Given the description of an element on the screen output the (x, y) to click on. 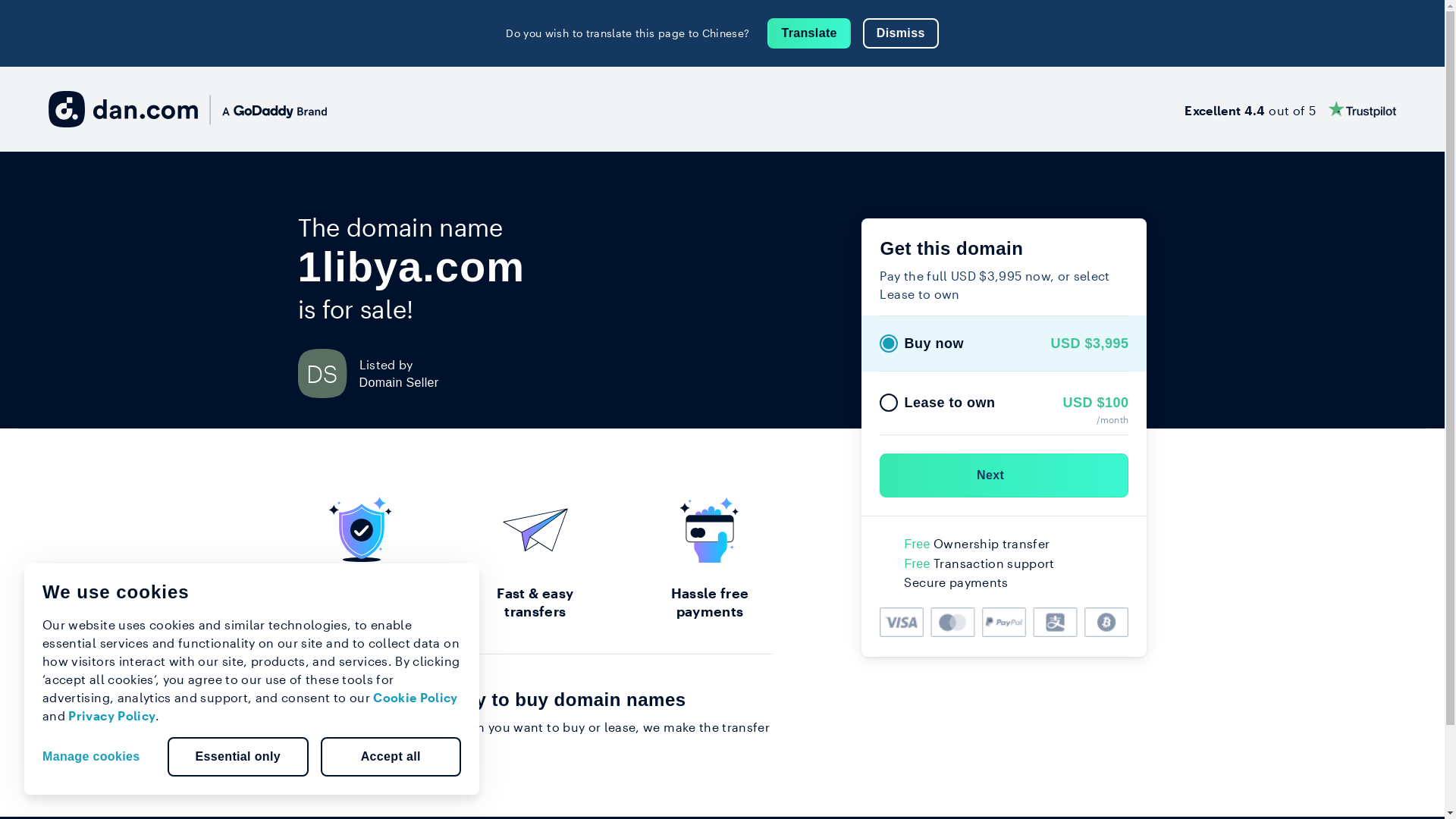
Excellent 4.4 out of 5 Element type: text (1290, 109)
Privacy Policy Element type: text (111, 715)
Next
) Element type: text (1003, 475)
Manage cookies Element type: text (97, 756)
Essential only Element type: text (237, 756)
Cookie Policy Element type: text (415, 697)
Translate Element type: text (808, 33)
Accept all Element type: text (390, 756)
Dismiss Element type: text (900, 33)
